Given the description of an element on the screen output the (x, y) to click on. 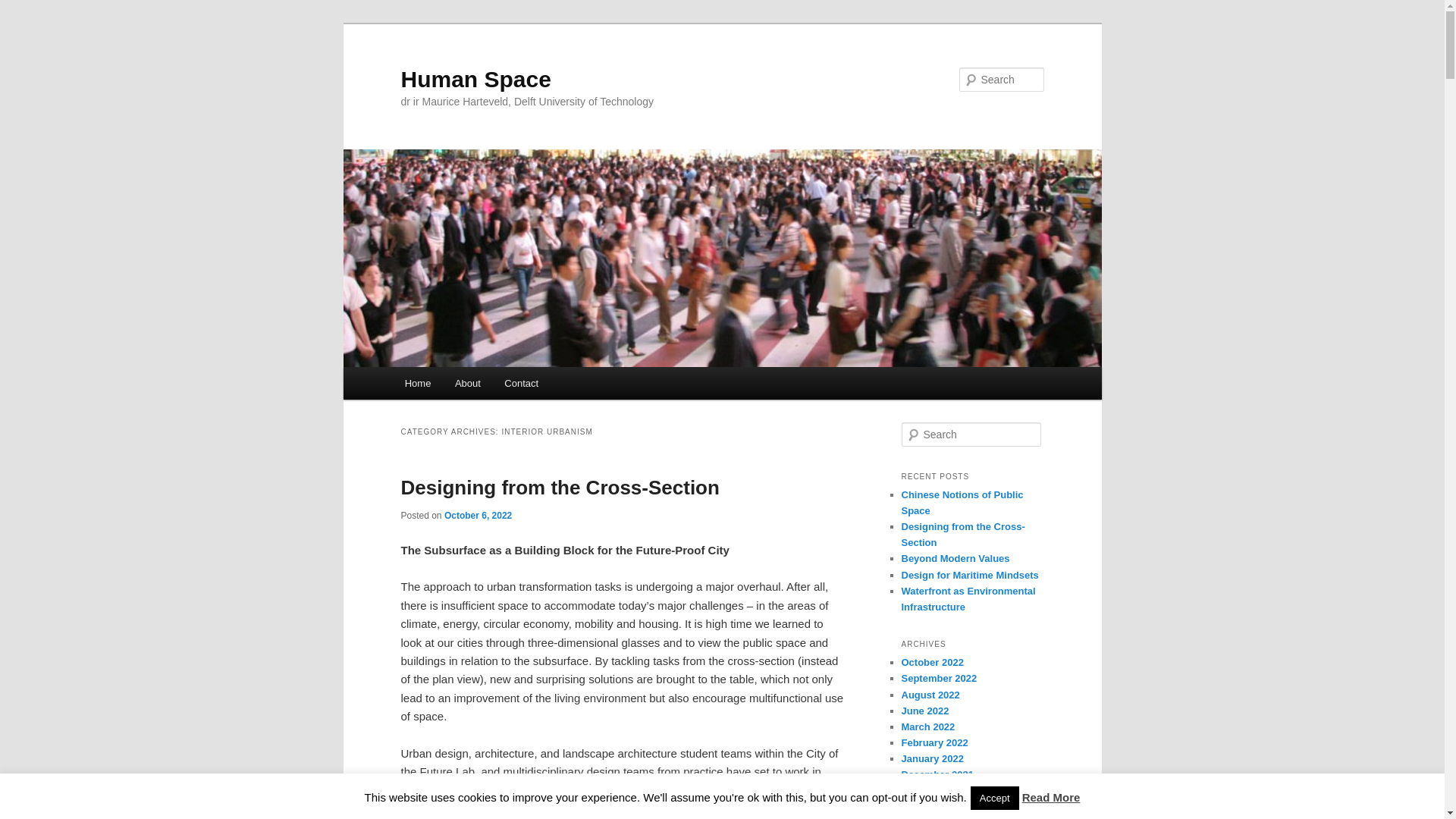
October 6, 2022 (478, 515)
Designing from the Cross-Section (559, 486)
Contact (521, 382)
About (467, 382)
09:37 (478, 515)
Human Space (475, 78)
Home (417, 382)
Search (24, 8)
